Given the description of an element on the screen output the (x, y) to click on. 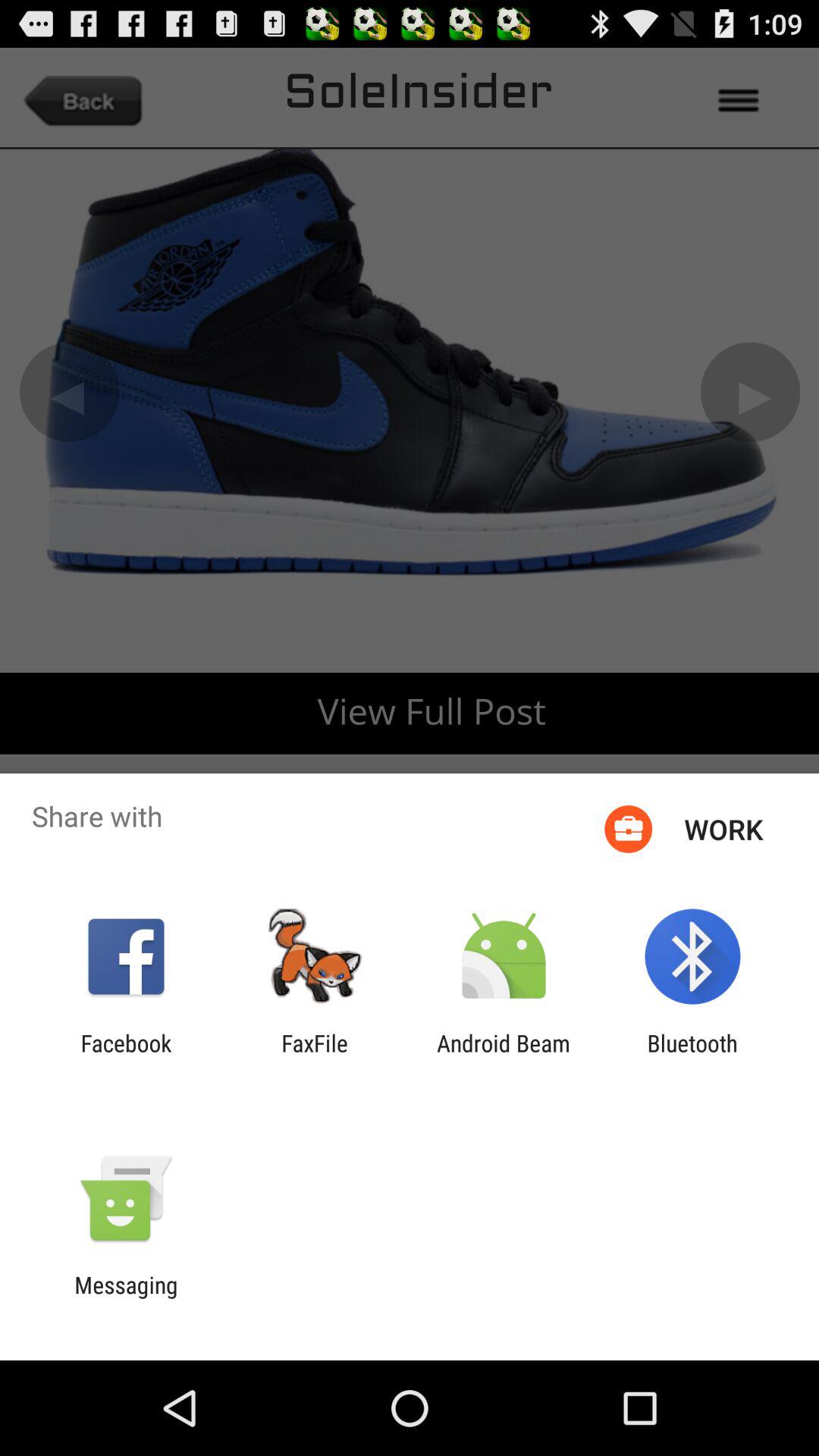
click icon to the left of the android beam app (314, 1056)
